Given the description of an element on the screen output the (x, y) to click on. 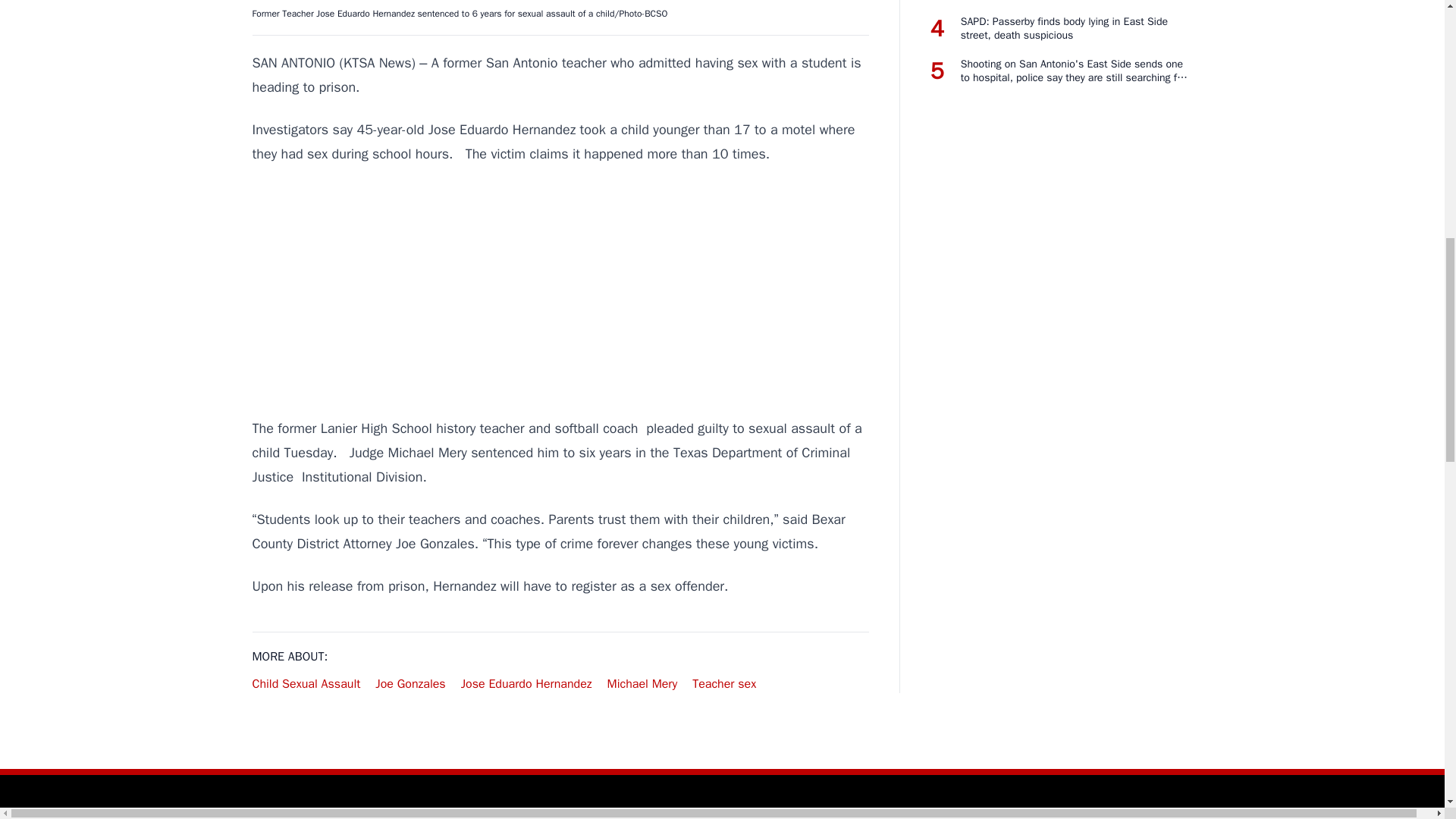
3rd party ad content (560, 290)
